Given the description of an element on the screen output the (x, y) to click on. 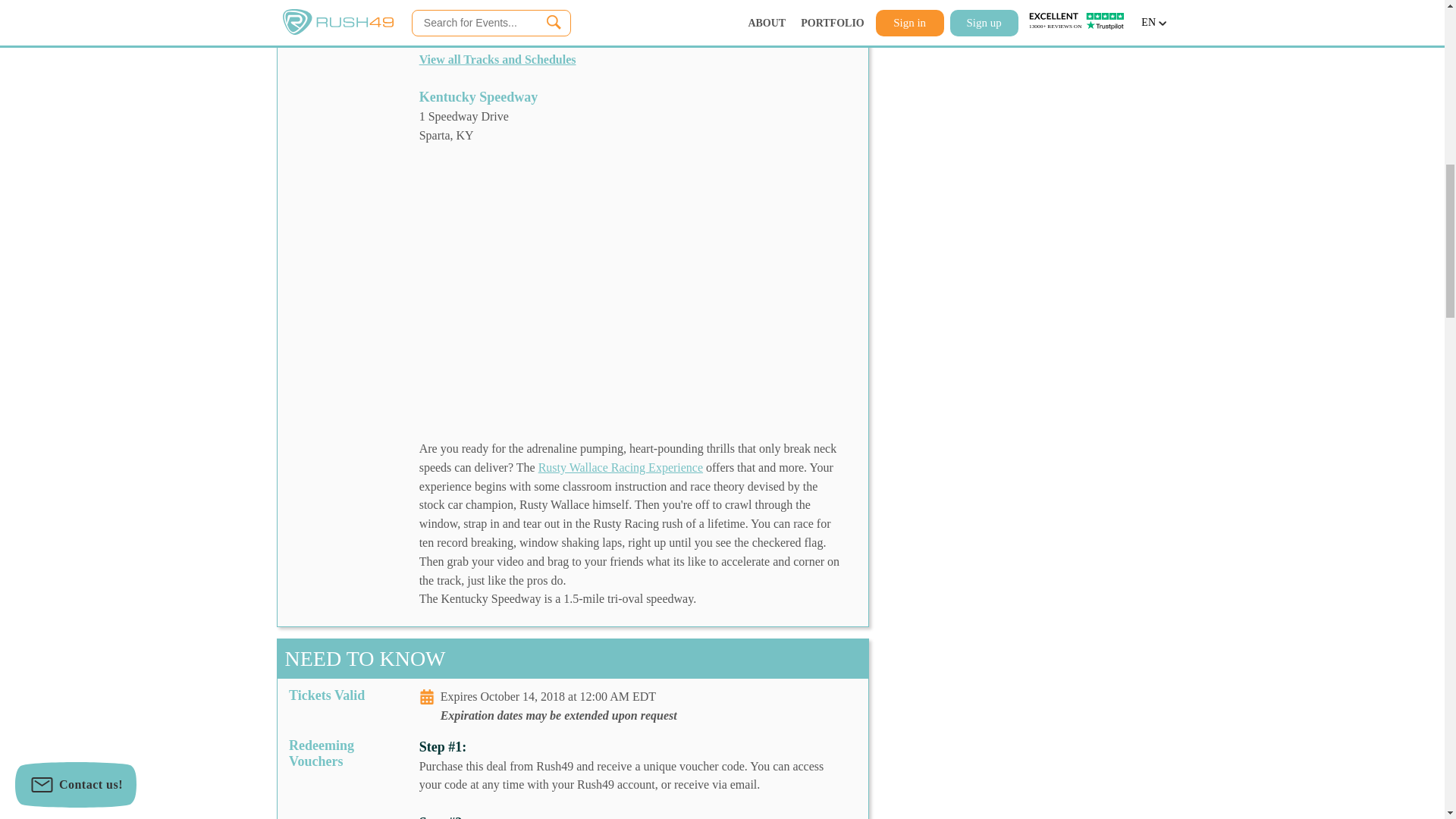
View all Tracks and Schedules (497, 59)
Rusty Wallace Racing Experience (620, 467)
